Given the description of an element on the screen output the (x, y) to click on. 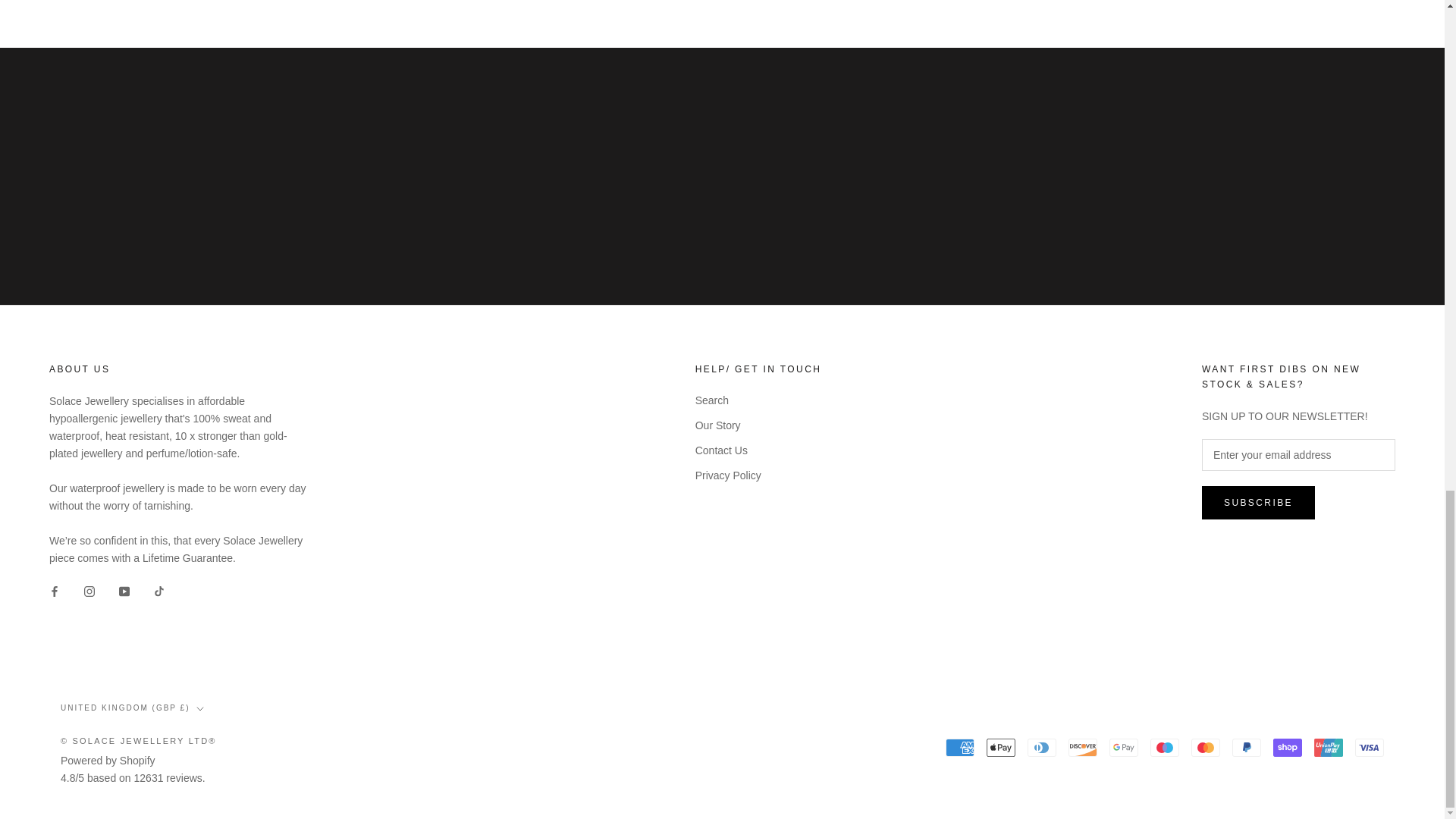
PayPal (1245, 747)
Apple Pay (1000, 747)
Mastercard (1205, 747)
Maestro (1164, 747)
Diners Club (1042, 747)
Google Pay (1123, 747)
American Express (959, 747)
Discover (1082, 747)
